Given the description of an element on the screen output the (x, y) to click on. 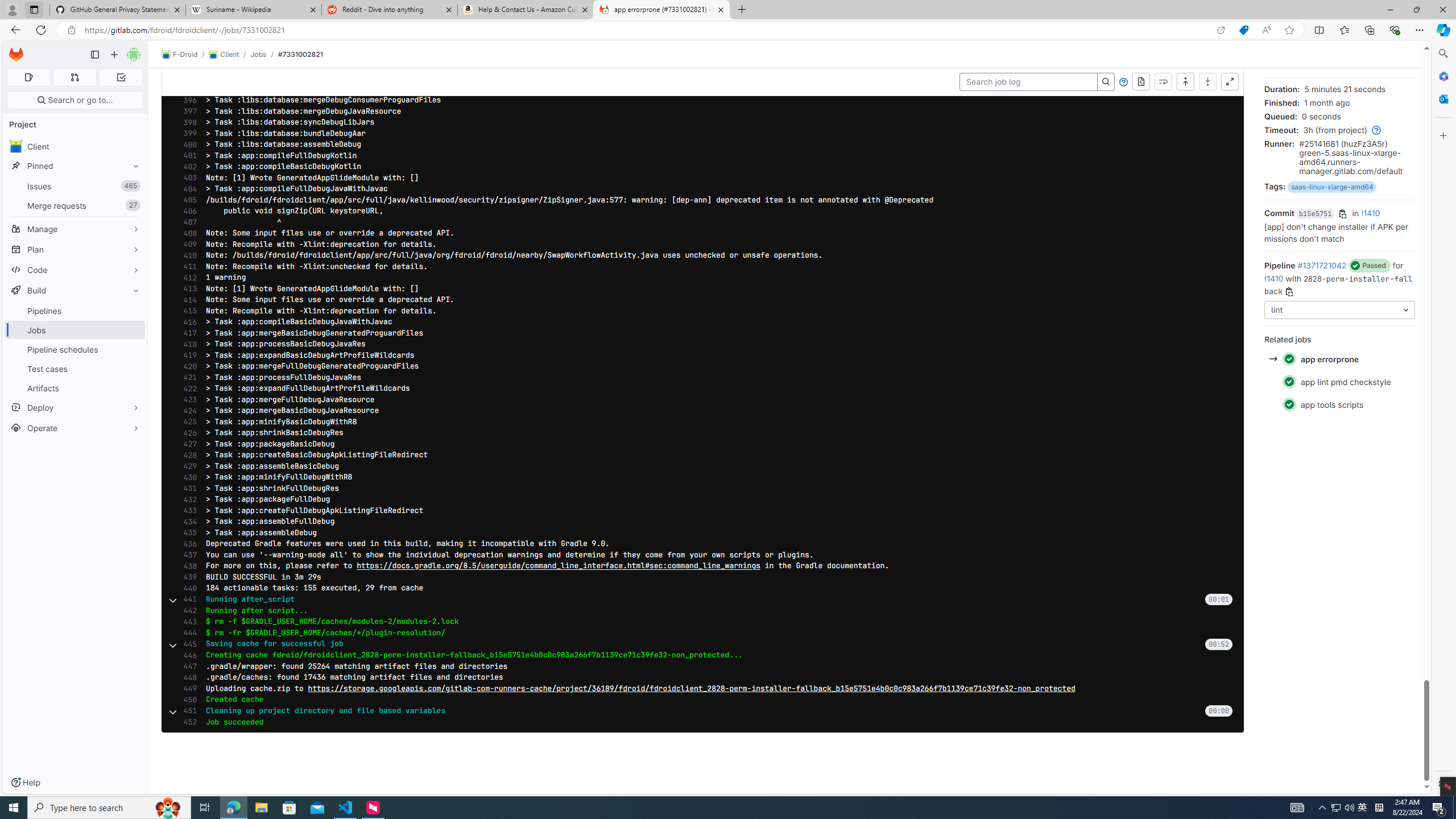
Status: Passed app lint pmd checkstyle (1338, 381)
Create new... (113, 54)
Artifacts (74, 387)
Search job log (1028, 81)
434 (186, 521)
Plan (74, 248)
Merge requests 27 (74, 205)
Pin Pipelines (132, 310)
F-Droid (179, 54)
446 (186, 655)
445 (186, 644)
BuildPipelinesJobsPipeline schedulesTest casesArtifacts (74, 338)
